Given the description of an element on the screen output the (x, y) to click on. 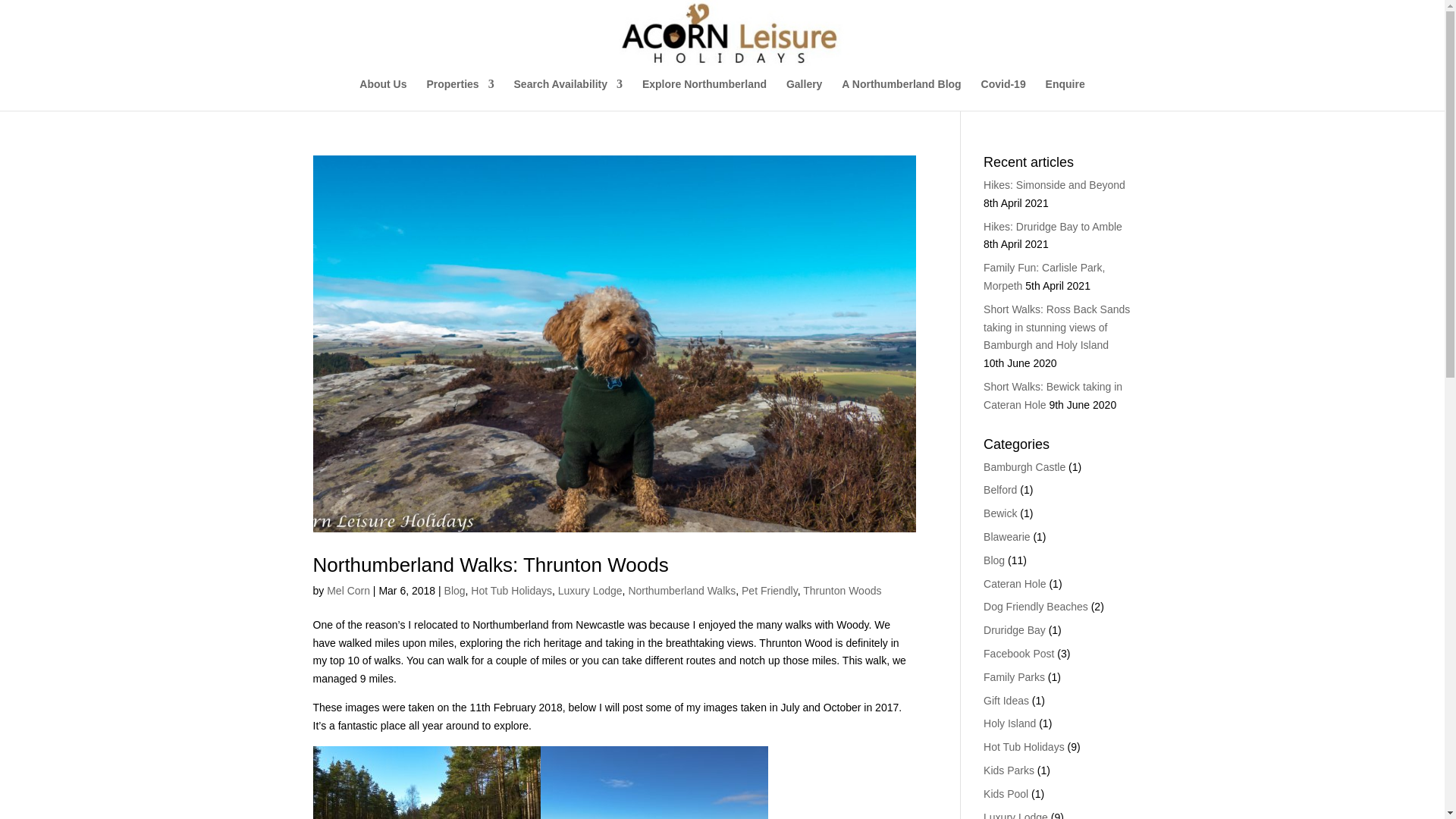
Explore Northumberland (704, 94)
Mel Corn (347, 590)
Northumberland Walks (681, 590)
Covid-19 (1003, 94)
Search Availability (568, 94)
Enquire (1064, 94)
A Northumberland Blog (900, 94)
Pet Friendly (769, 590)
Gallery (804, 94)
Properties (459, 94)
Posts by Mel Corn (347, 590)
Luxury Lodge (590, 590)
Thrunton Woods (841, 590)
Northumberland Walks: Thrunton Woods (490, 564)
About Us (382, 94)
